Given the description of an element on the screen output the (x, y) to click on. 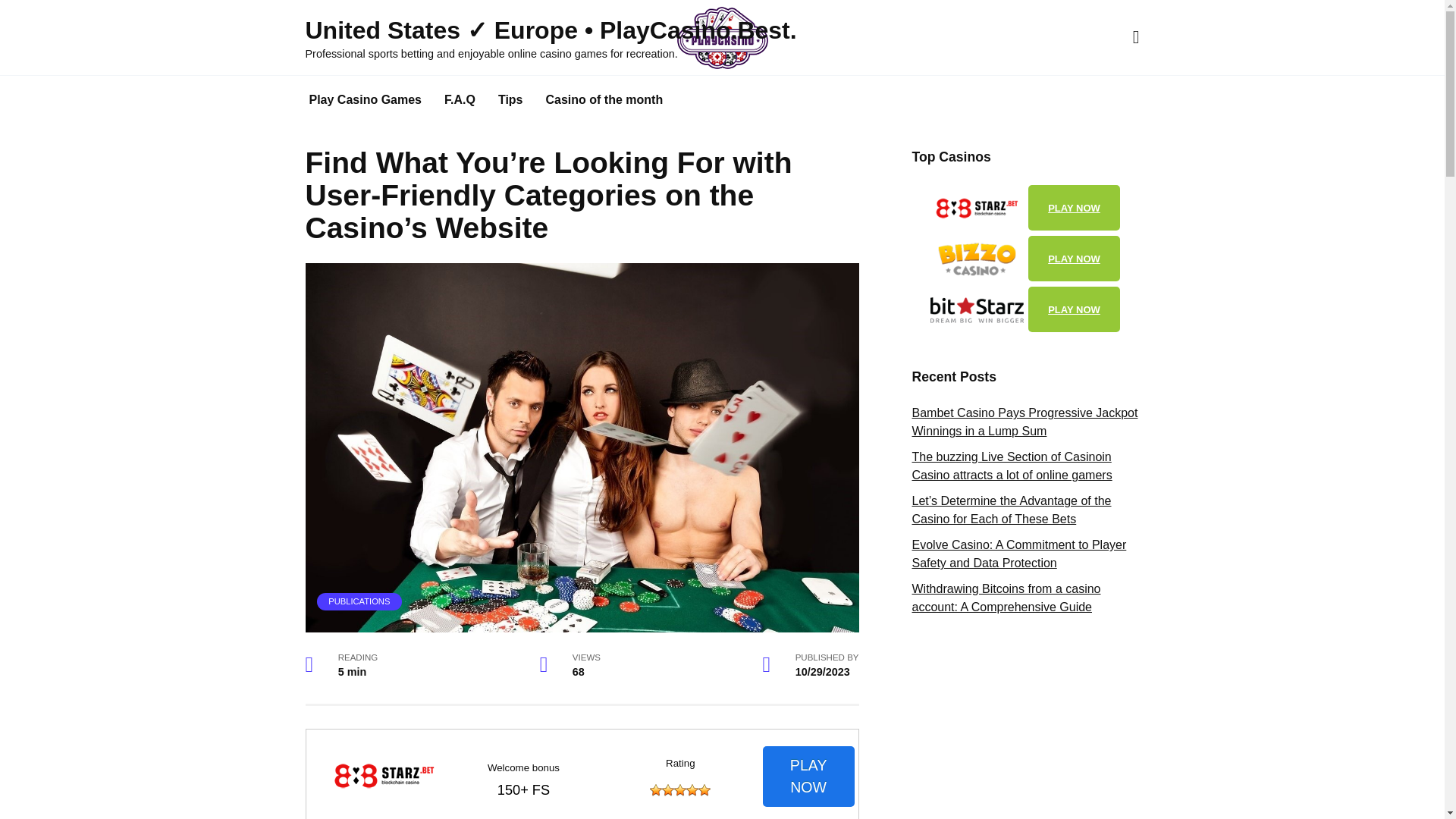
PLAY NOW (808, 776)
Play Casino Games (364, 100)
PLAY NOW (1073, 309)
Casino of the month (604, 100)
F.A.Q (459, 100)
PLAY NOW (1073, 207)
PUBLICATIONS (359, 601)
Tips (510, 100)
PLAY NOW (1073, 258)
